Given the description of an element on the screen output the (x, y) to click on. 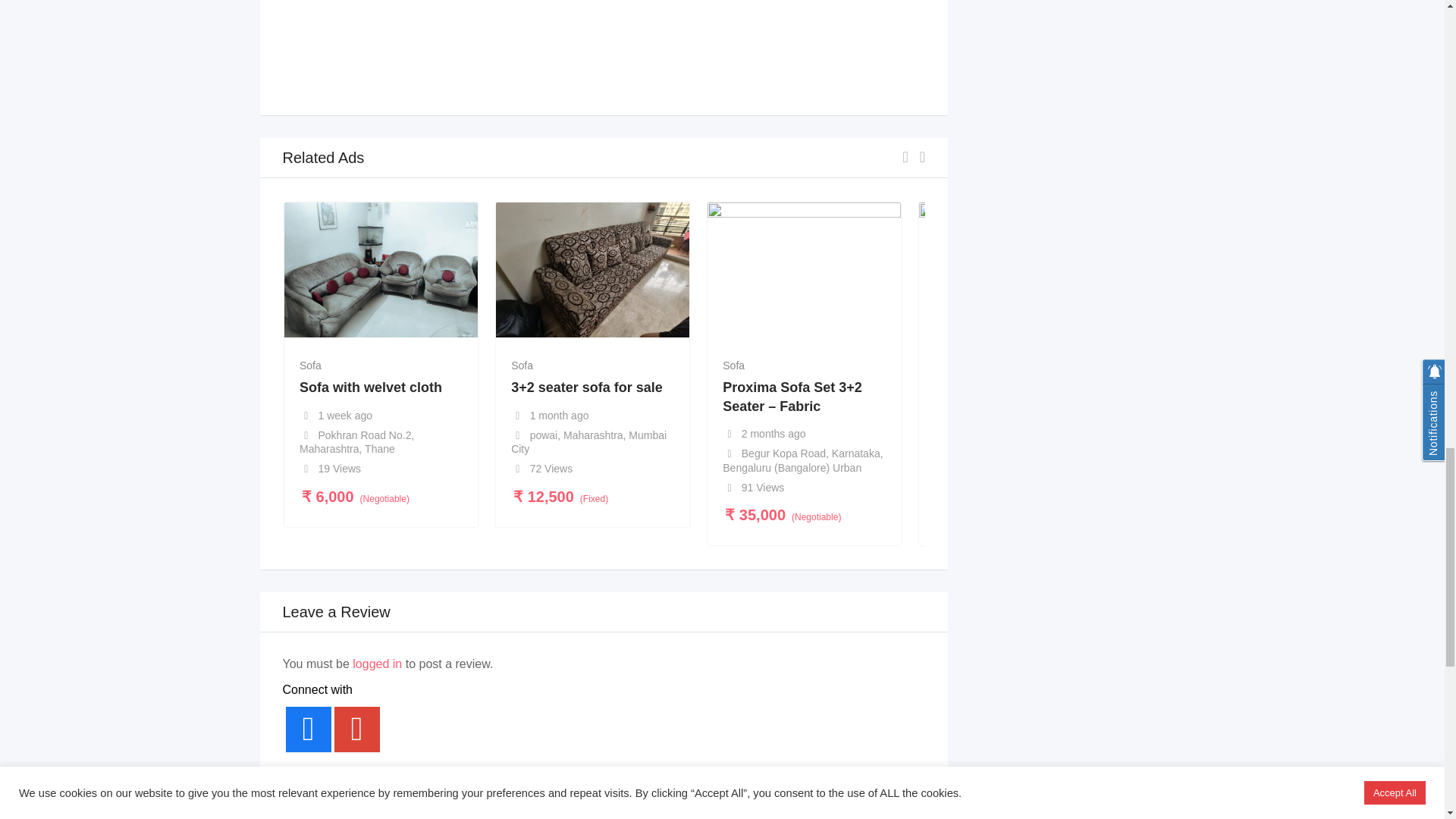
Sofa with welvet cloth (370, 387)
